Given the description of an element on the screen output the (x, y) to click on. 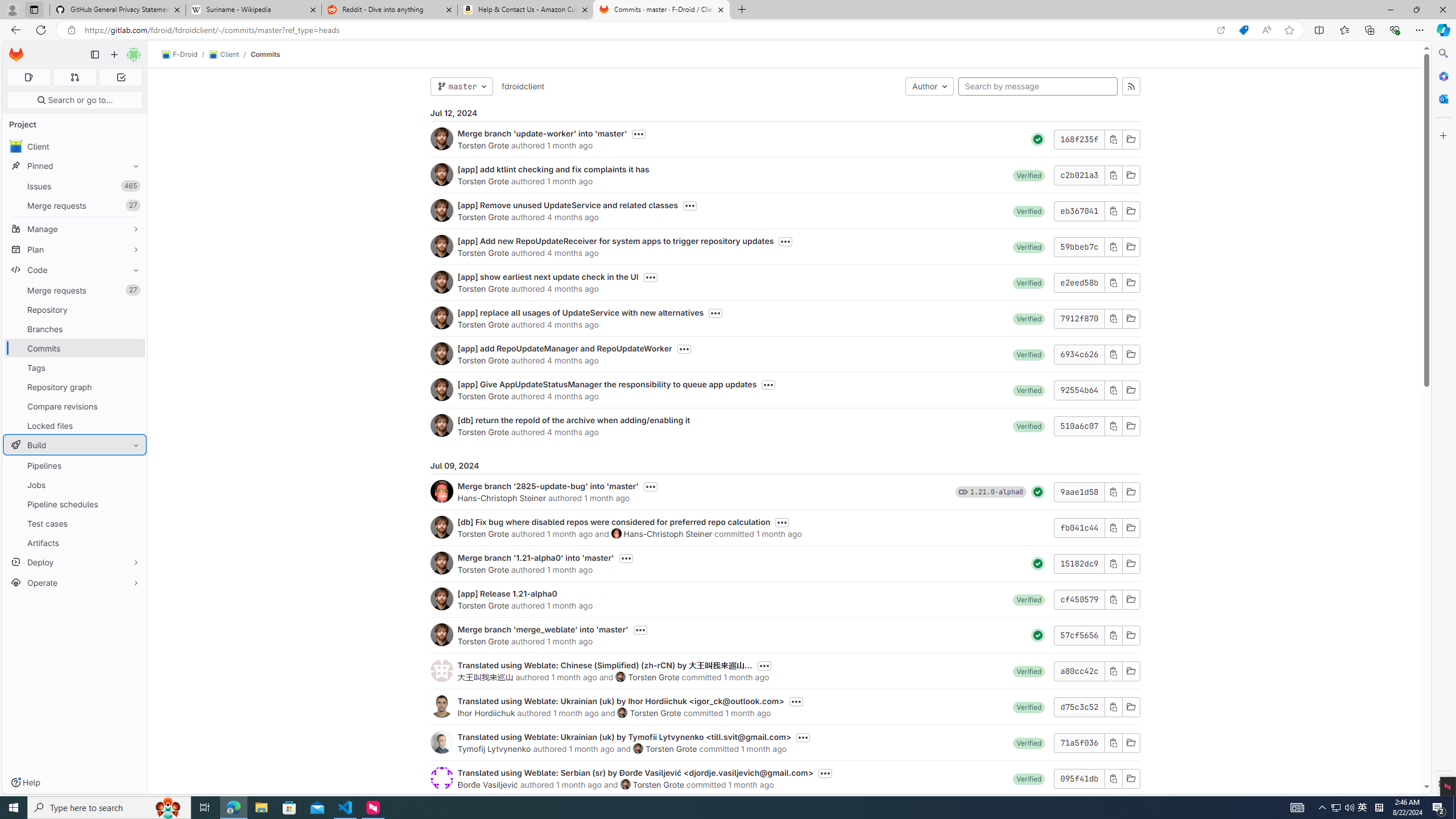
Torsten Grote's avatar (625, 783)
[app] Release 1.21-alpha0 (507, 593)
Issues 465 (74, 185)
Author (929, 85)
fdroidclient (522, 85)
Deploy (74, 561)
